Given the description of an element on the screen output the (x, y) to click on. 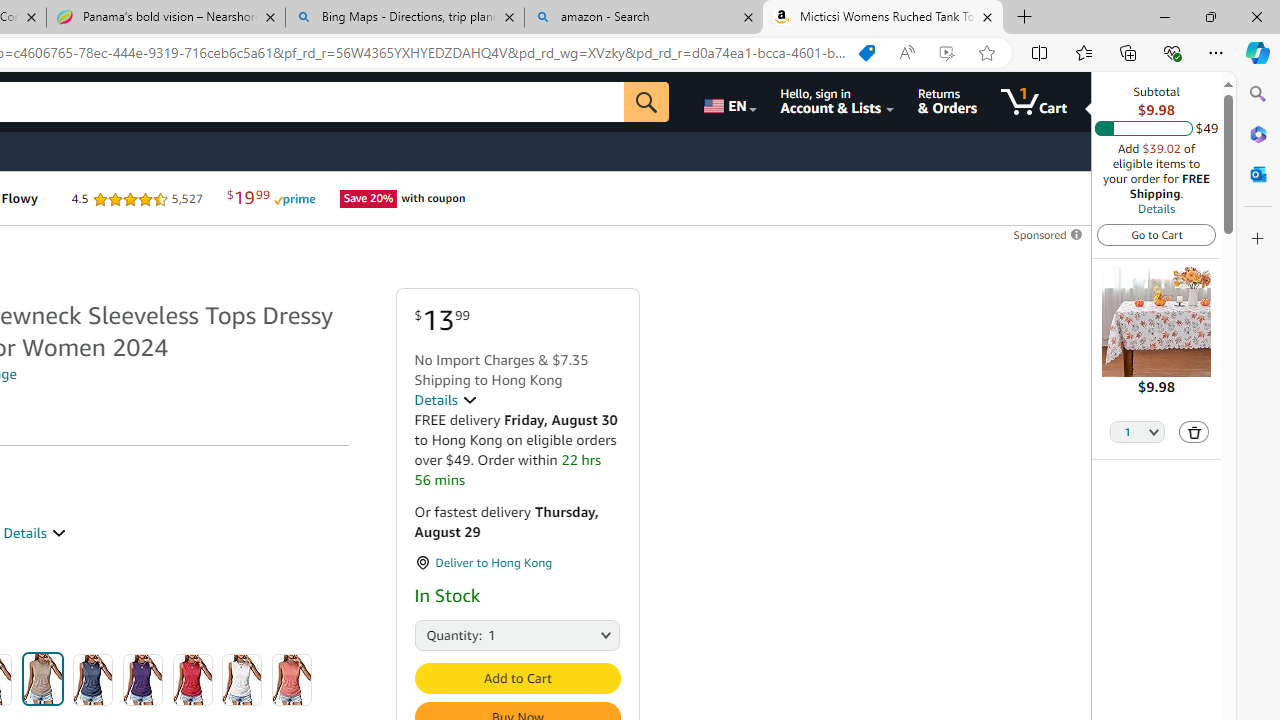
Quantity Selector (1137, 433)
Navy Blue (93, 679)
Choose a language for shopping. (728, 101)
Khaki (42, 678)
Details  (445, 399)
White (242, 679)
1 item in cart (1034, 101)
